Given the description of an element on the screen output the (x, y) to click on. 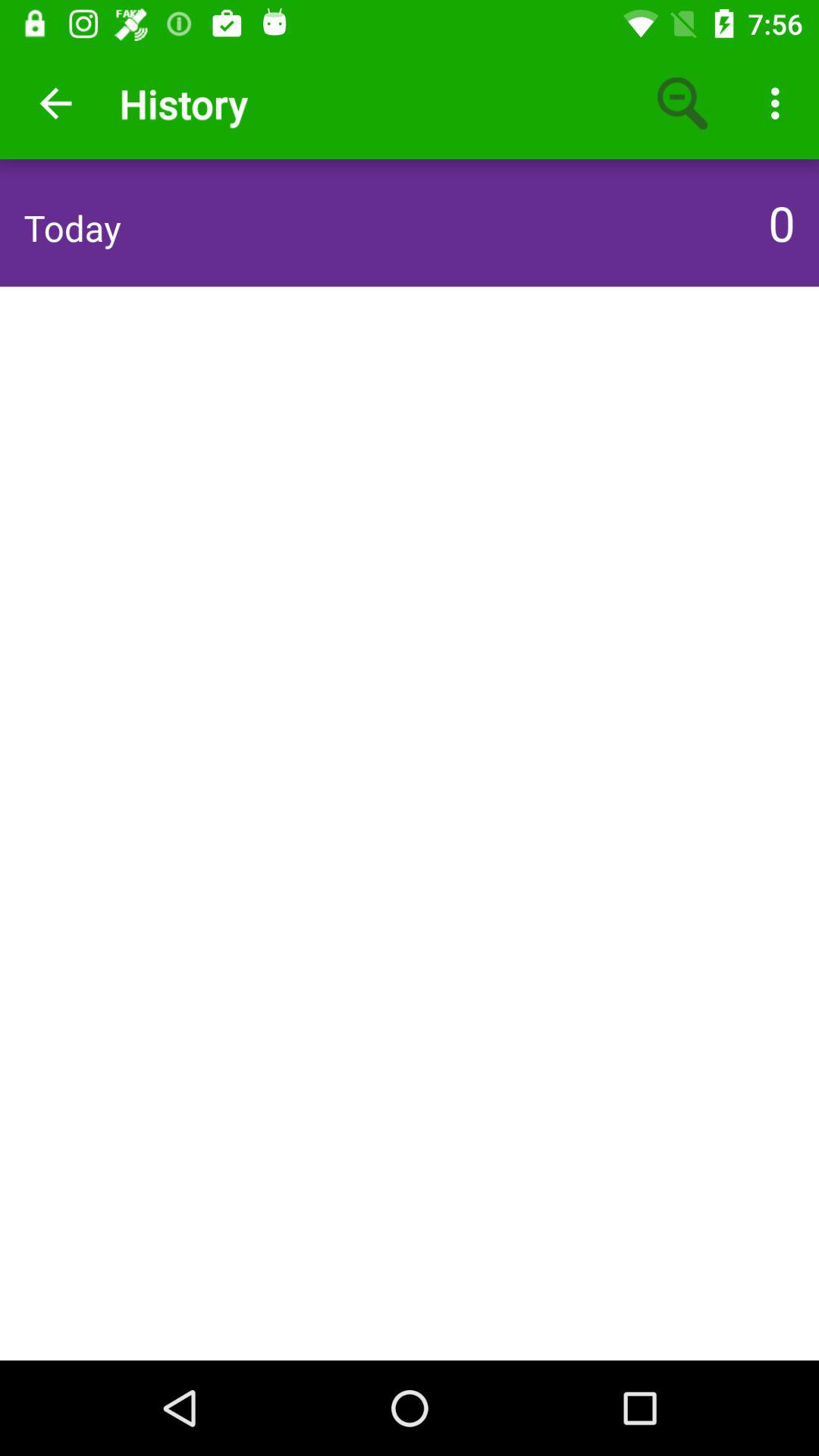
open the icon next to the today icon (777, 222)
